Given the description of an element on the screen output the (x, y) to click on. 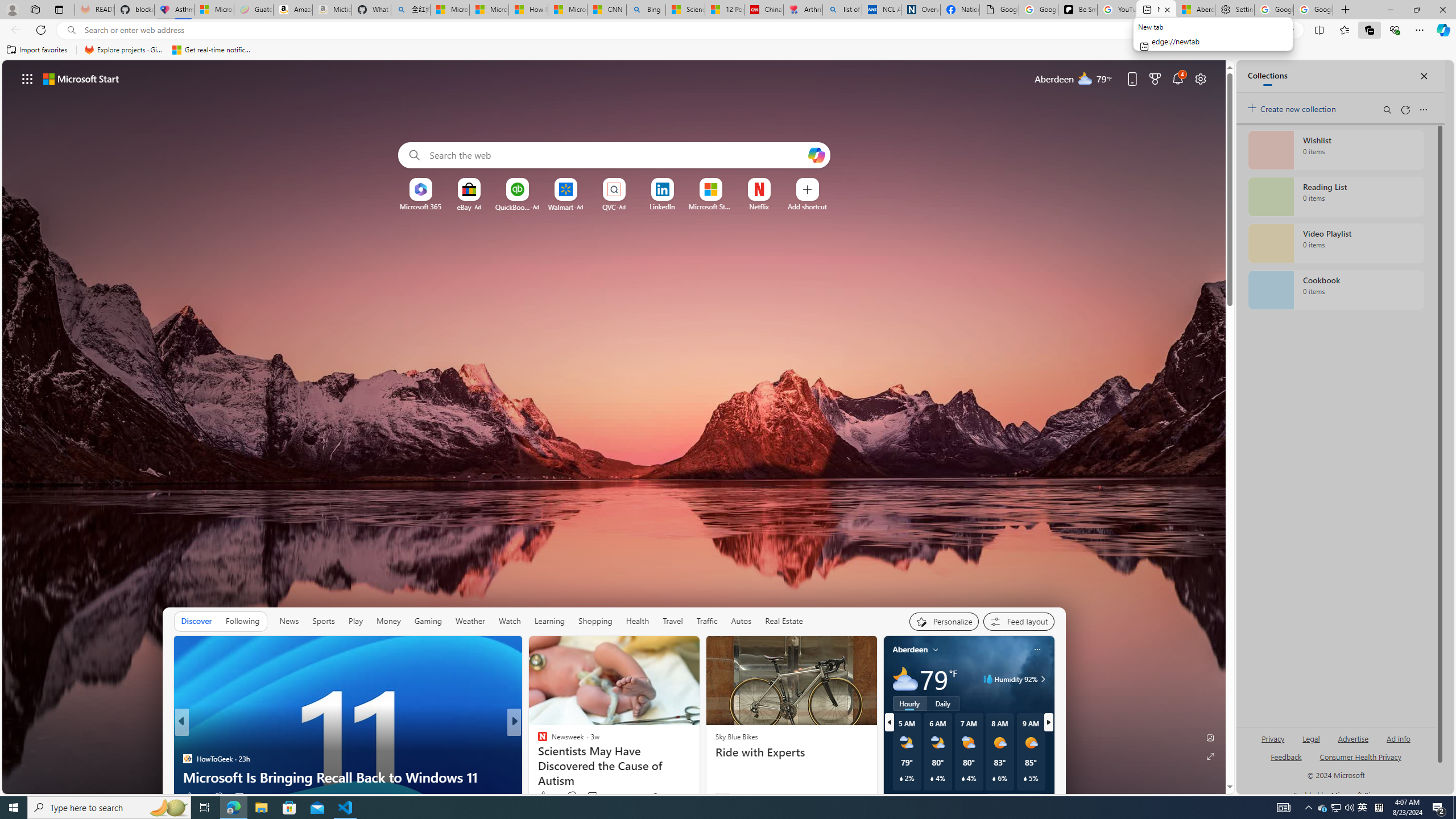
View comments 23 Comment (597, 796)
View comments 429 Comment (592, 795)
39 Like (543, 796)
AutomationID: genId96 (1285, 761)
The Associated Press - Business News (537, 740)
Microsoft start (81, 78)
Search icon (70, 29)
ABC News (537, 740)
56 Like (543, 796)
